Given the description of an element on the screen output the (x, y) to click on. 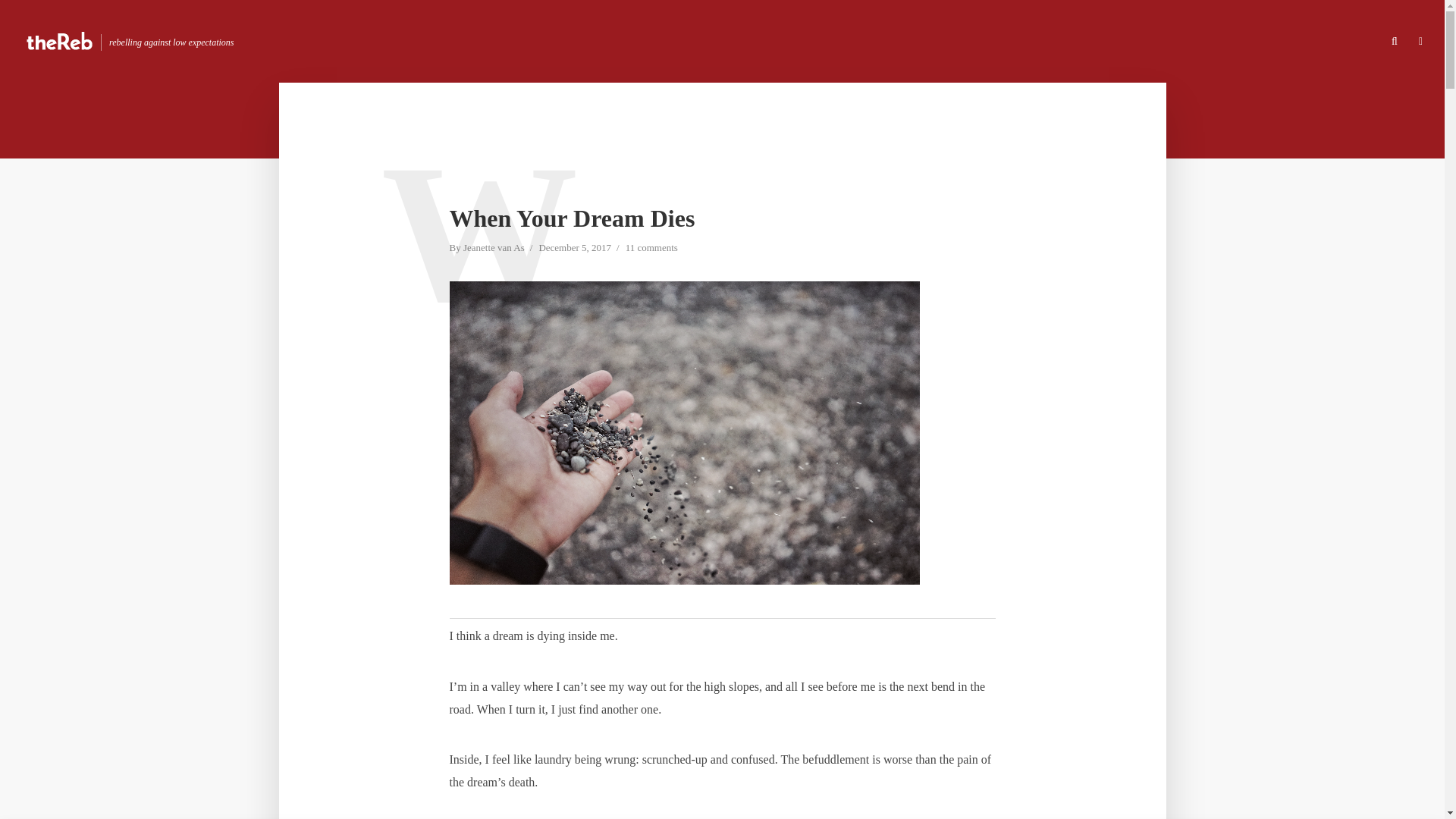
11 comments (652, 248)
Jeanette van As (493, 248)
